Given the description of an element on the screen output the (x, y) to click on. 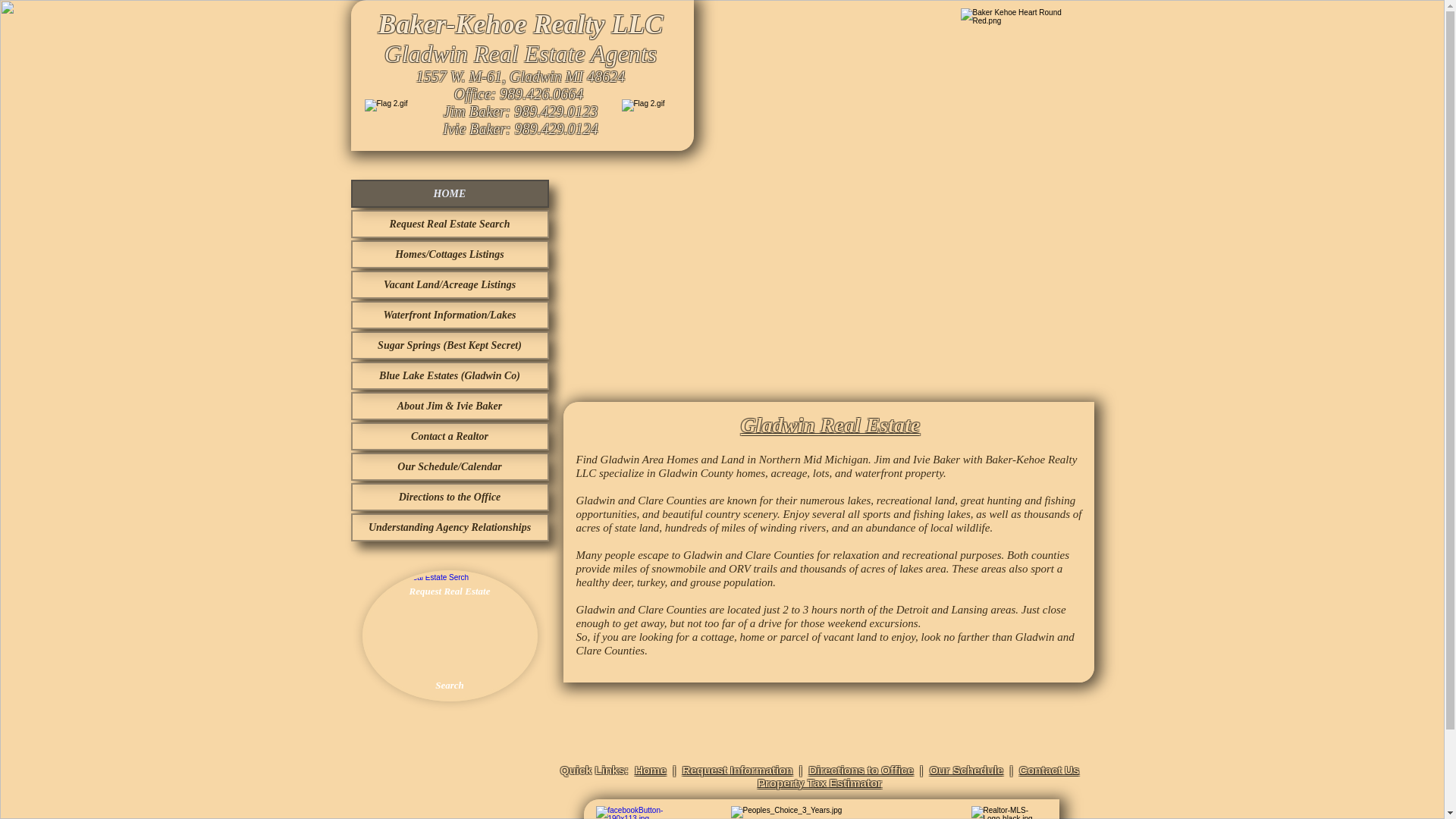
Our Schedule (967, 769)
Request Real Estate Search (449, 223)
Directions to the Office (449, 496)
Contact Us (1048, 769)
Contact a Realtor (449, 436)
Baker-Kehoe Realty LLC, Gladwin MI (1019, 68)
HOME (449, 193)
Request Real Estate Search (449, 635)
Property Tax Estimator (819, 782)
Home (650, 769)
Request Information (737, 769)
Directions to Office (860, 769)
Like Us on Facebook (645, 812)
Understanding Agency Relationships (449, 527)
